Given the description of an element on the screen output the (x, y) to click on. 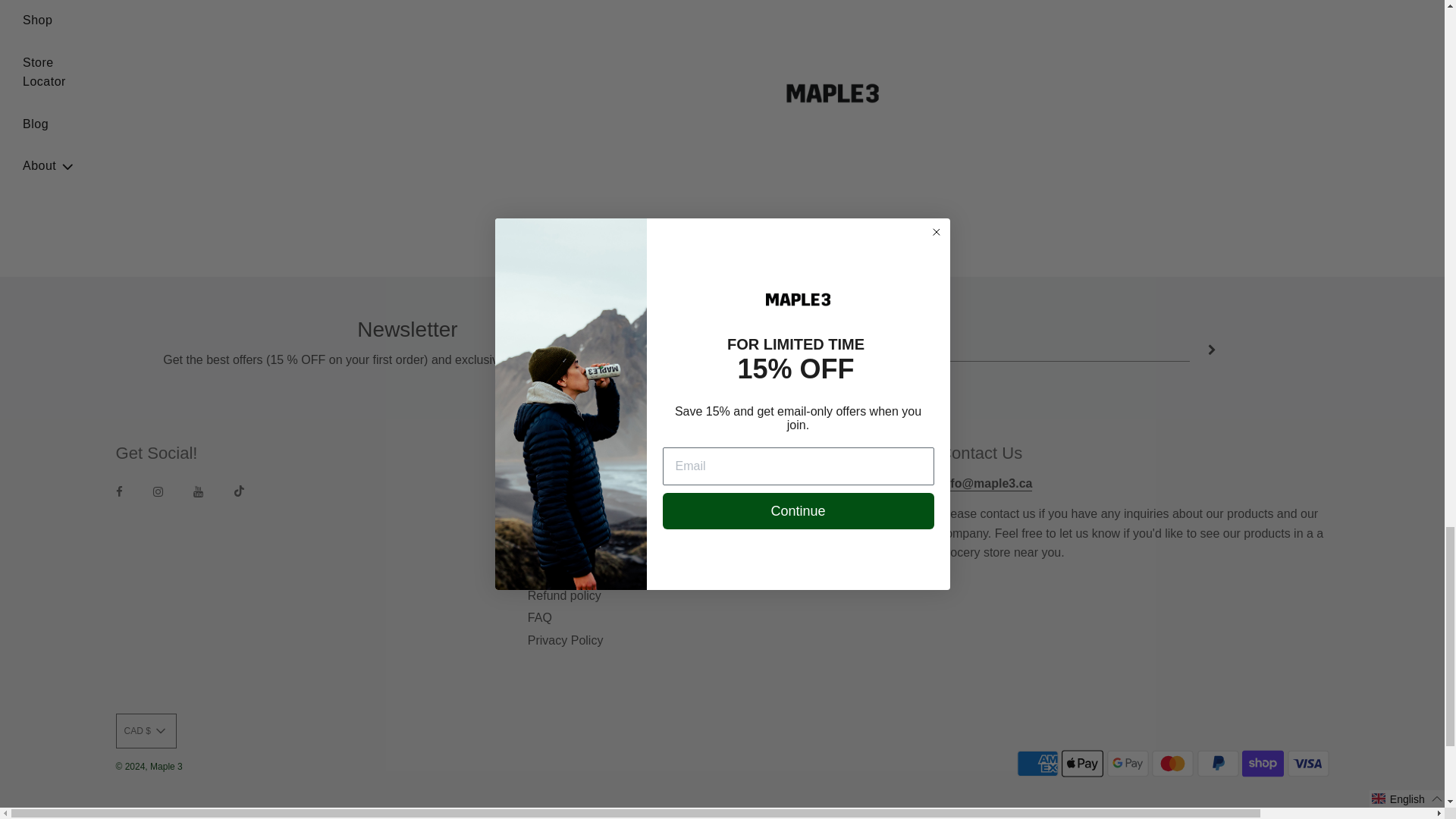
Pure Organic Maple Water -500ml (1176, 36)
Pure Organic Maple Water - 1L (570, 36)
Sparkling Organic Maple Water - Mix Pack - 355ML (267, 36)
